Given the description of an element on the screen output the (x, y) to click on. 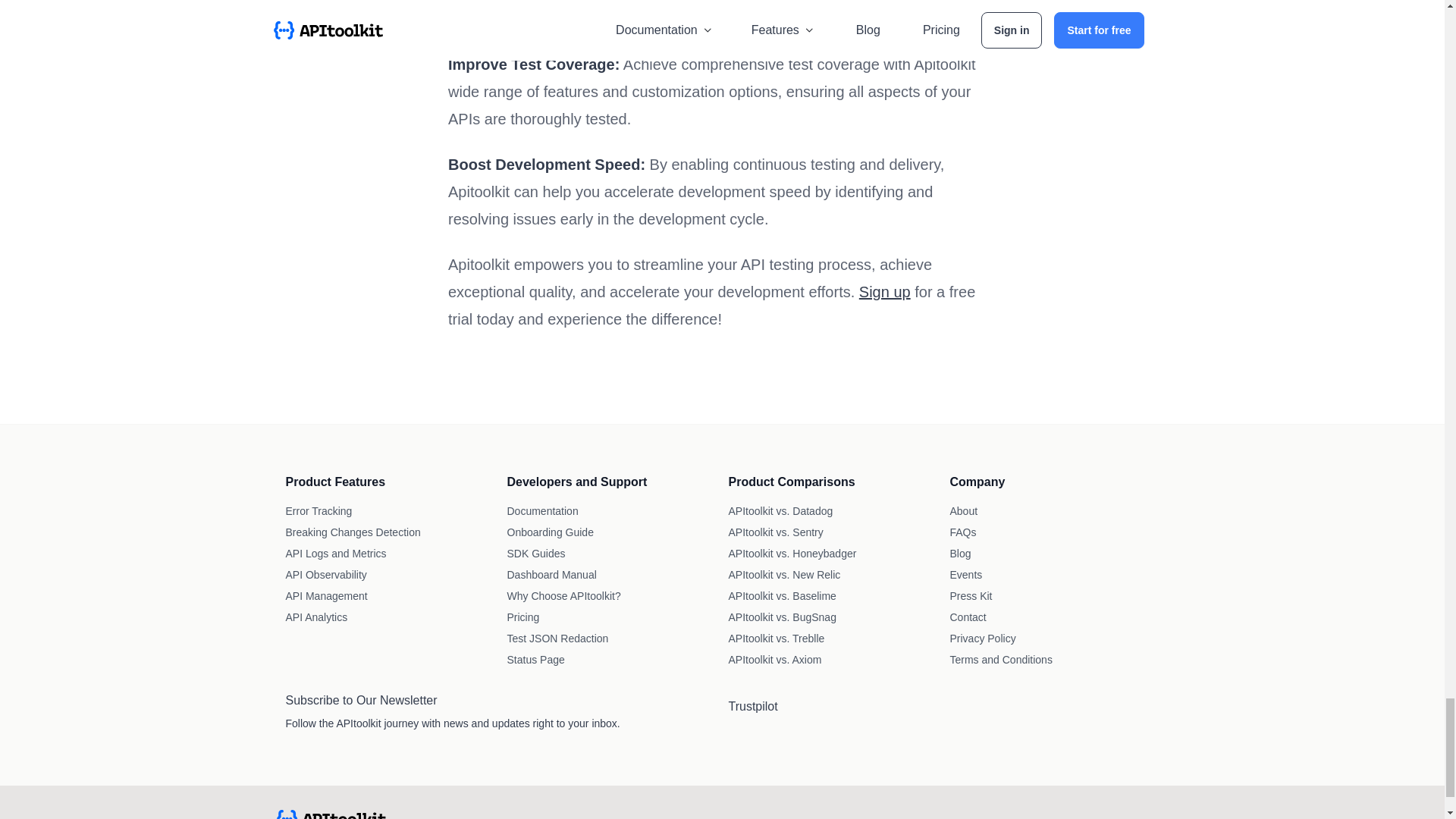
API Observability (325, 574)
Sign up (885, 291)
API Logs and Metrics (335, 553)
Documentation (542, 510)
Breaking Changes Detection (352, 532)
Error Tracking (318, 510)
API Analytics (316, 616)
API Management (325, 595)
